Given the description of an element on the screen output the (x, y) to click on. 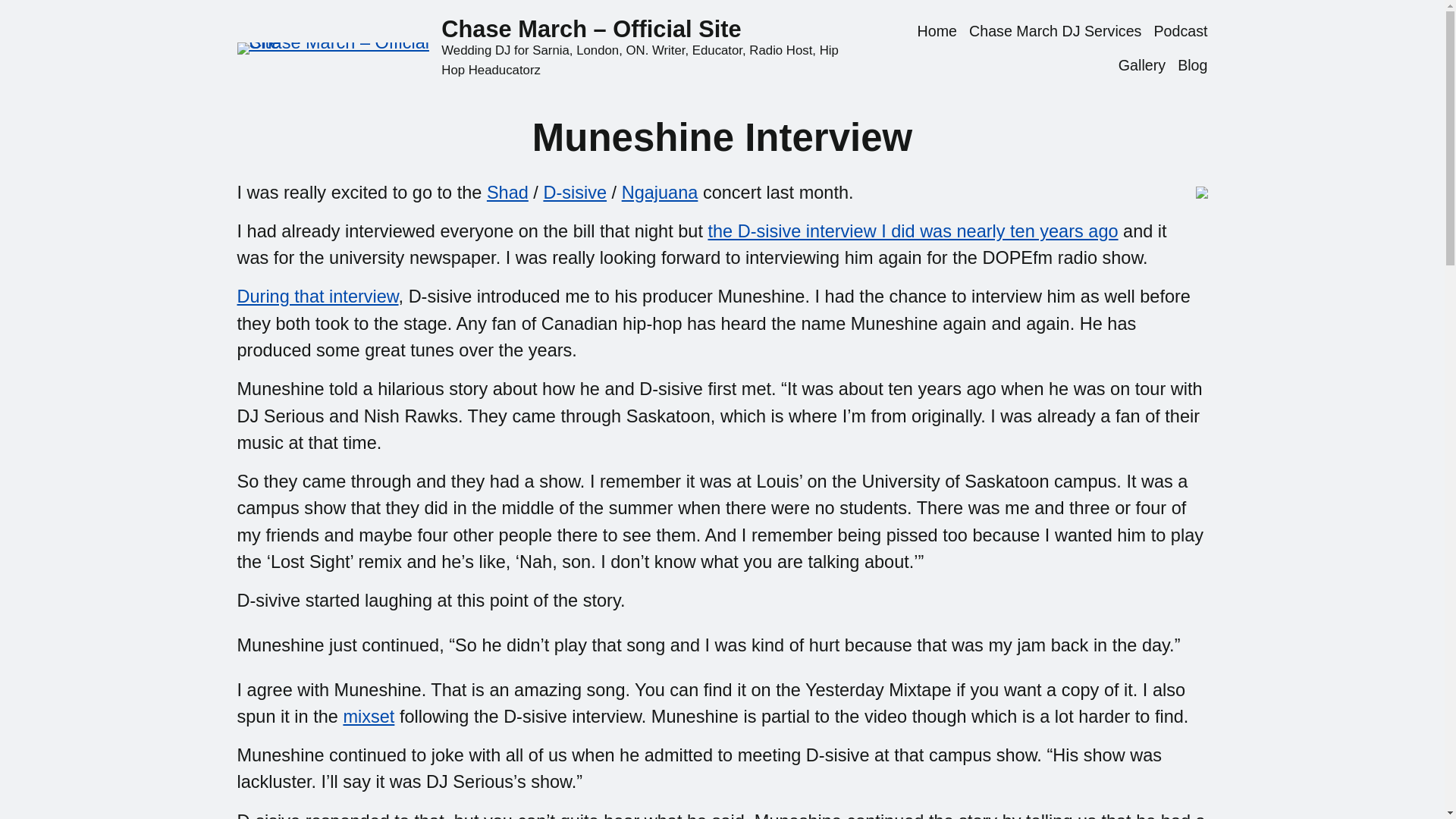
the D-sisive interview I did was nearly ten years ago (912, 230)
Chase March DJ Services (1055, 31)
Blog (1192, 65)
During that interview (316, 296)
Home (936, 31)
Gallery (1142, 65)
Ngajuana (659, 192)
Shad (507, 192)
Podcast (1180, 31)
mixset (368, 716)
